Given the description of an element on the screen output the (x, y) to click on. 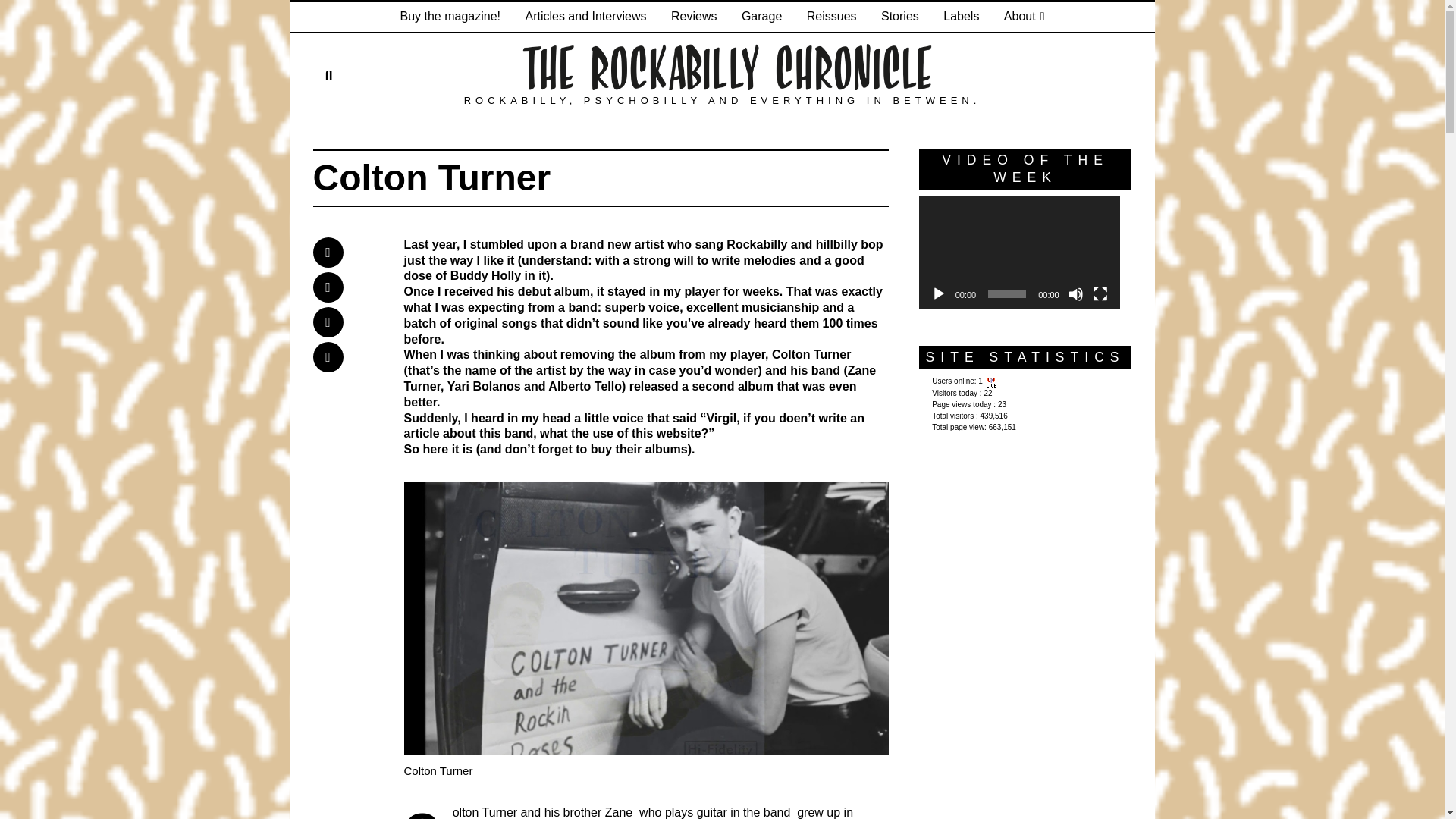
Buy the magazine! (449, 16)
Garage (761, 16)
Stories (900, 16)
Reissues (831, 16)
About (1023, 16)
Play (938, 294)
Fullscreen (1100, 294)
Reviews (693, 16)
Articles and Interviews (584, 16)
Labels (961, 16)
